Given the description of an element on the screen output the (x, y) to click on. 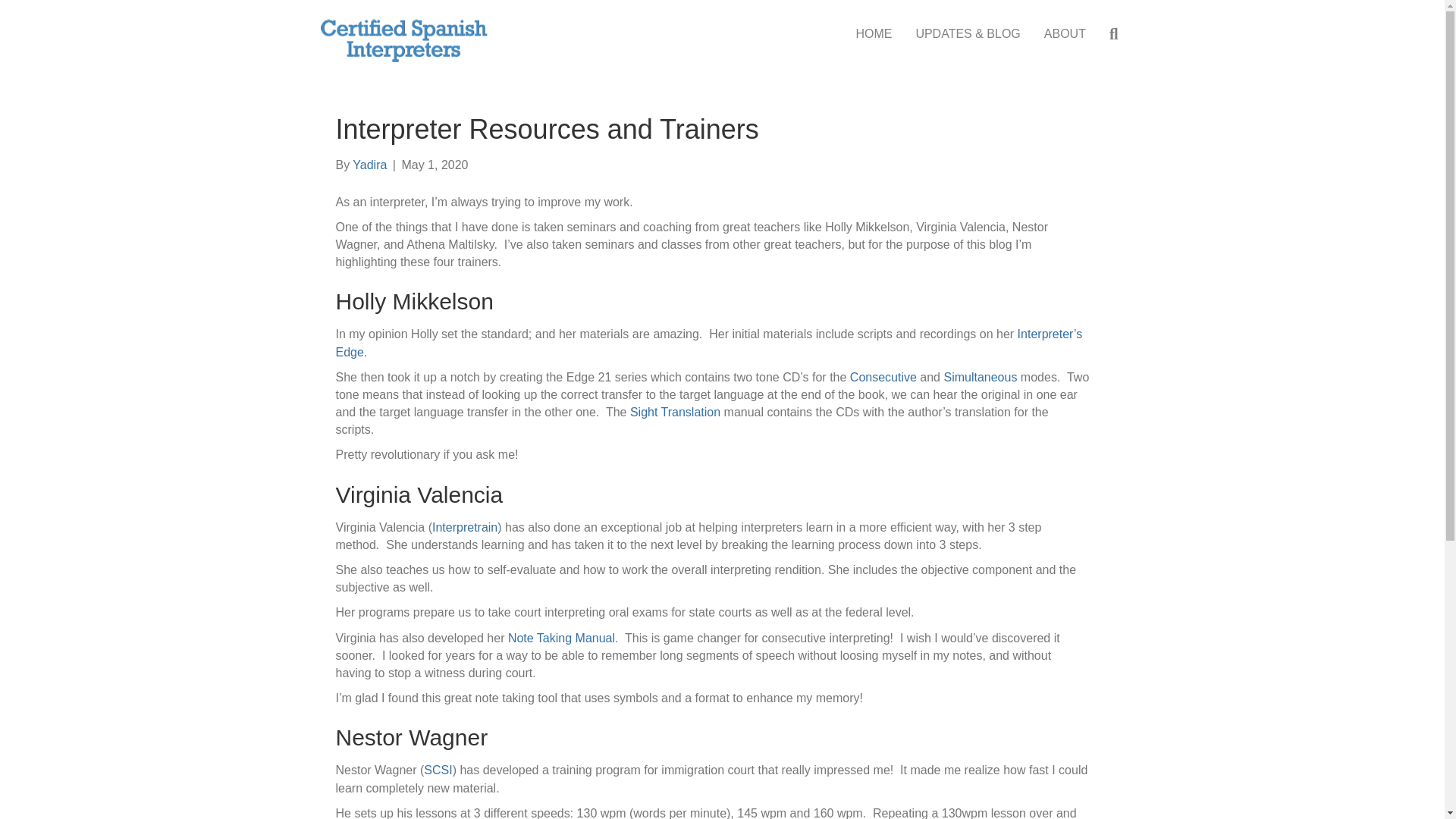
Consecutive (883, 377)
Logo-certified-spanish-interpreters (403, 40)
HOME (873, 33)
SCSI (437, 769)
Search (1116, 34)
Note Taking Manual (558, 637)
ABOUT (1064, 33)
Interpretrain (464, 526)
Sight Translation (675, 411)
Yadira (369, 164)
Simultaneous (979, 377)
